Given the description of an element on the screen output the (x, y) to click on. 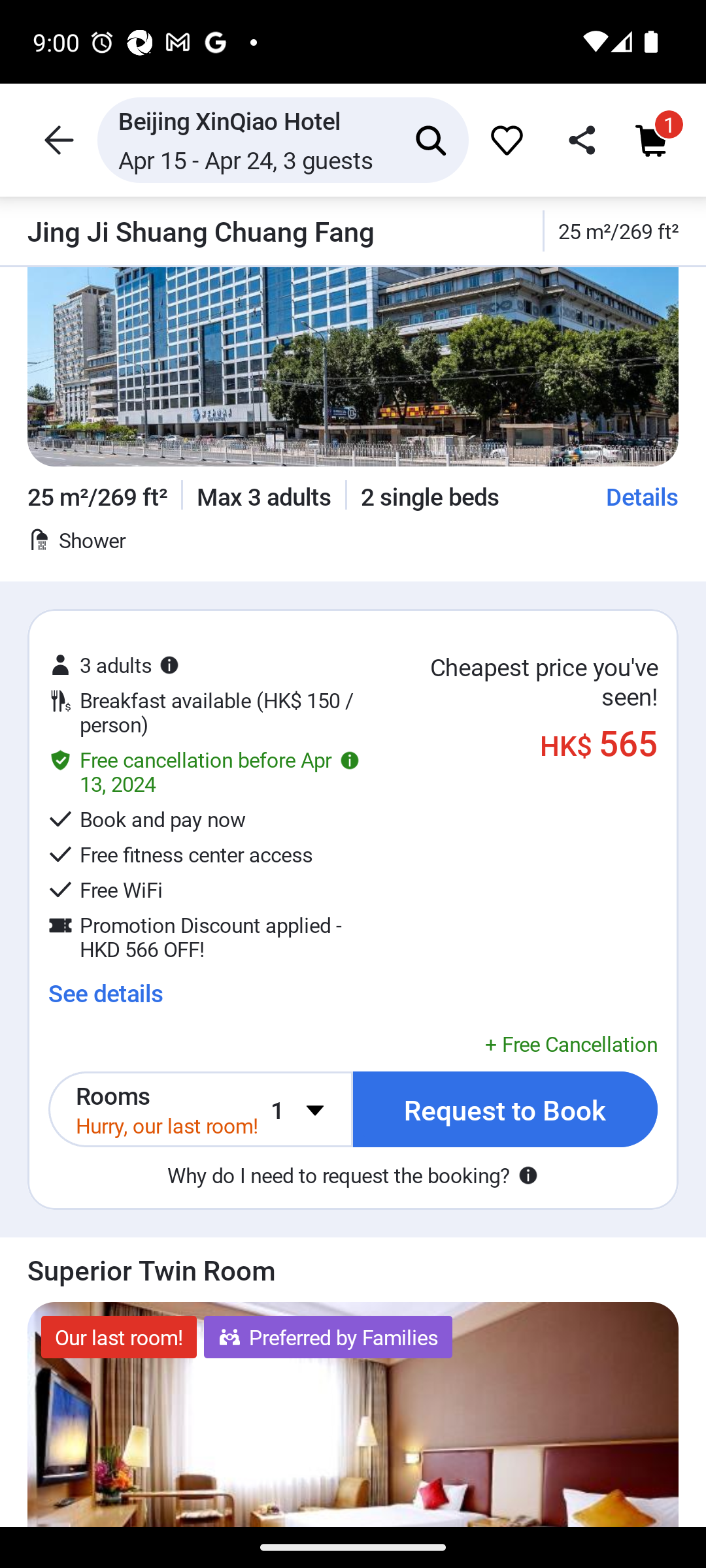
header icon (57, 139)
favorite_icon 51e95598 (503, 139)
share_header_icon (577, 139)
Cart icon cart_item_count 1 (653, 139)
Image with blurhash (352, 366)
Details (642, 495)
3 adults (114, 664)
Free cancellation before Apr 13, 2024 (204, 771)
See details (105, 992)
Rooms Hurry, our last room! 1 (200, 1108)
Request to Book (505, 1108)
Why do I need to request the booking? (352, 1174)
Image with blurhash (352, 1414)
